Given the description of an element on the screen output the (x, y) to click on. 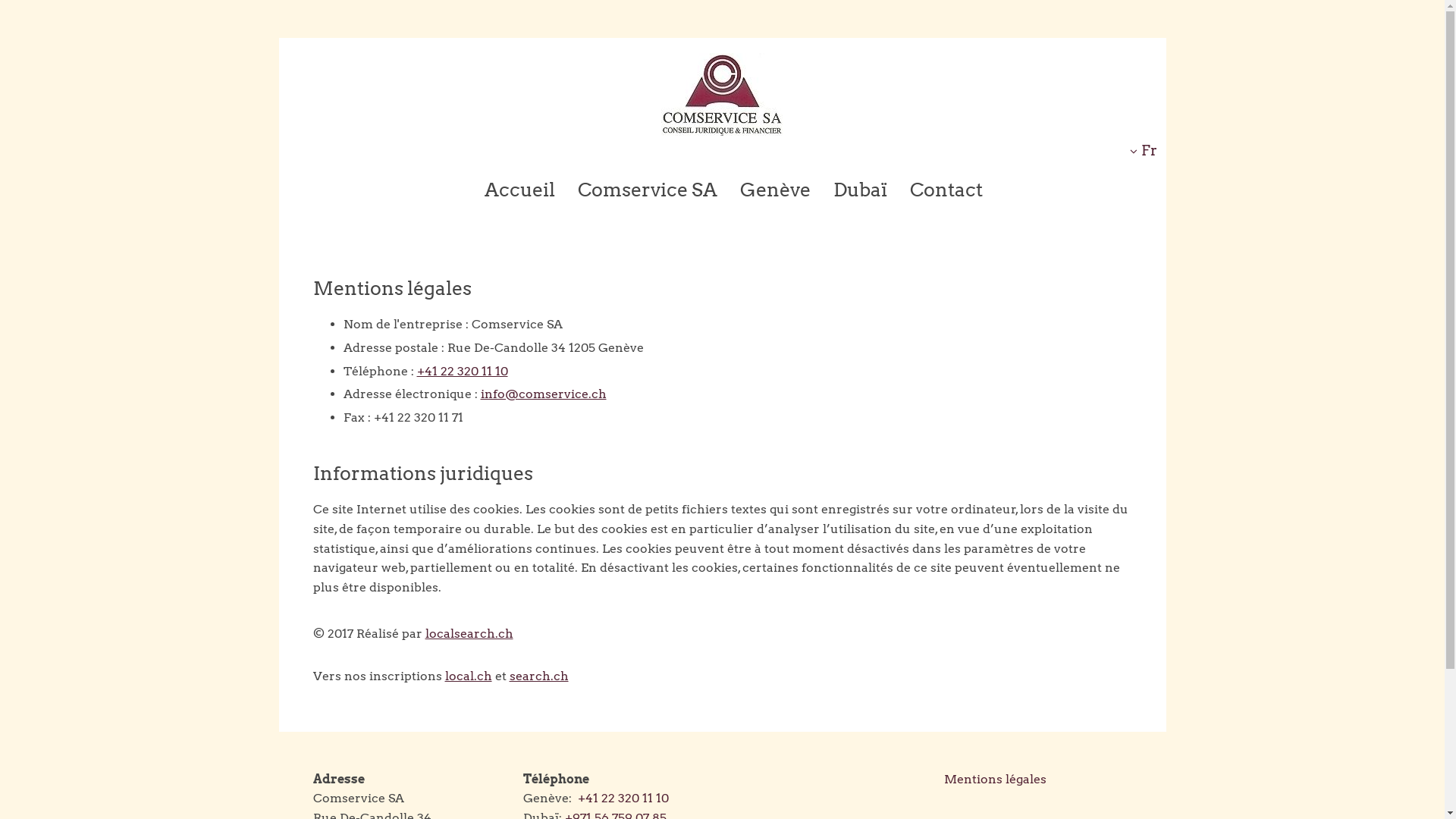
local.ch Element type: text (467, 675)
Fr Element type: text (1143, 150)
info@comservice.ch Element type: text (543, 393)
Comservice SA Element type: text (647, 189)
Contact Element type: text (946, 189)
search.ch Element type: text (538, 675)
localsearch.ch Element type: text (468, 633)
+41 22 320 11 10 Element type: text (462, 371)
+41 22 320 11 10 Element type: text (622, 797)
Accueil Element type: text (519, 189)
